Given the description of an element on the screen output the (x, y) to click on. 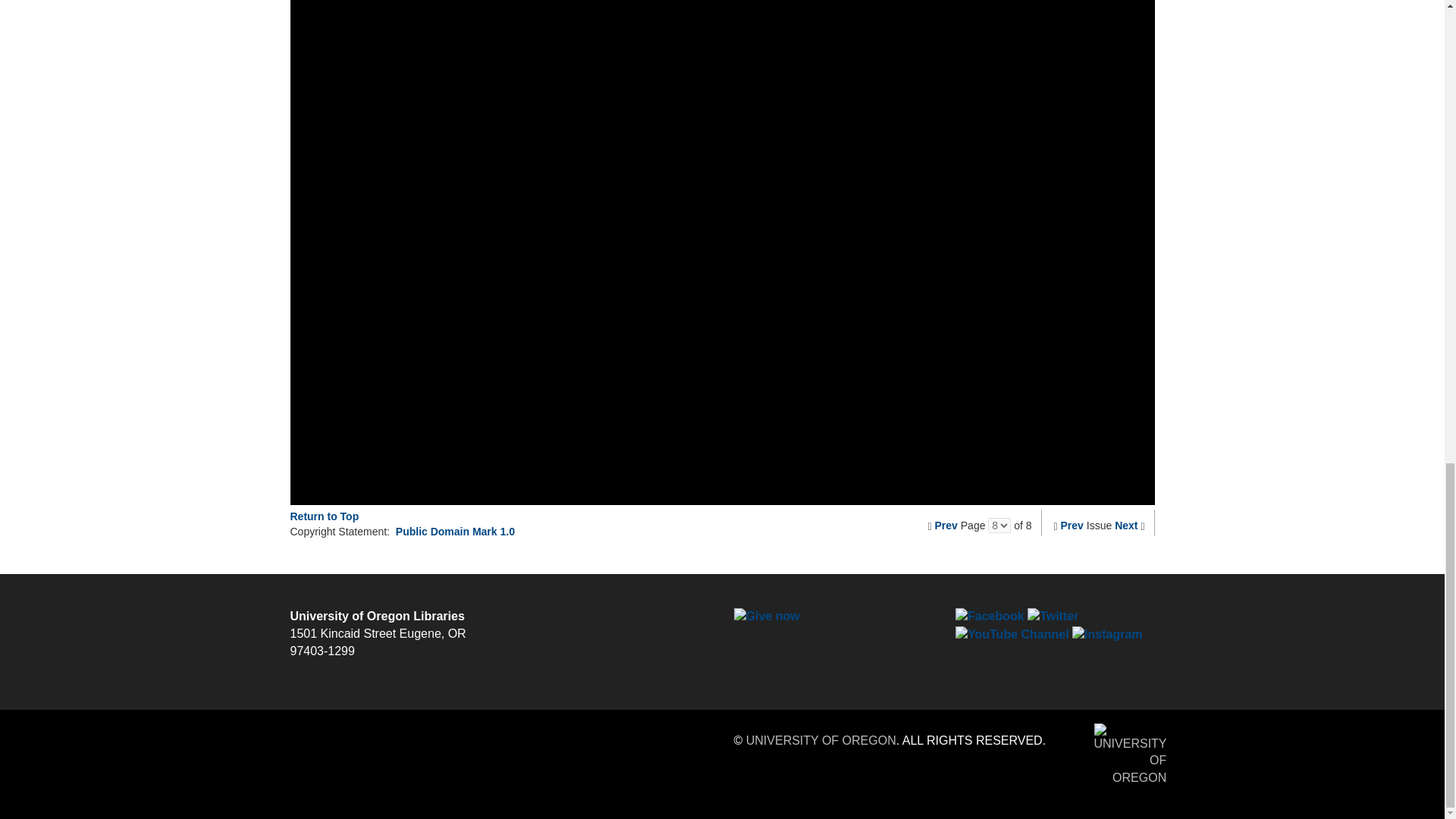
Public Domain Mark 1.0 (455, 531)
Next (1126, 525)
Prev (946, 525)
Return to Top (323, 516)
Prev (1072, 525)
